Given the description of an element on the screen output the (x, y) to click on. 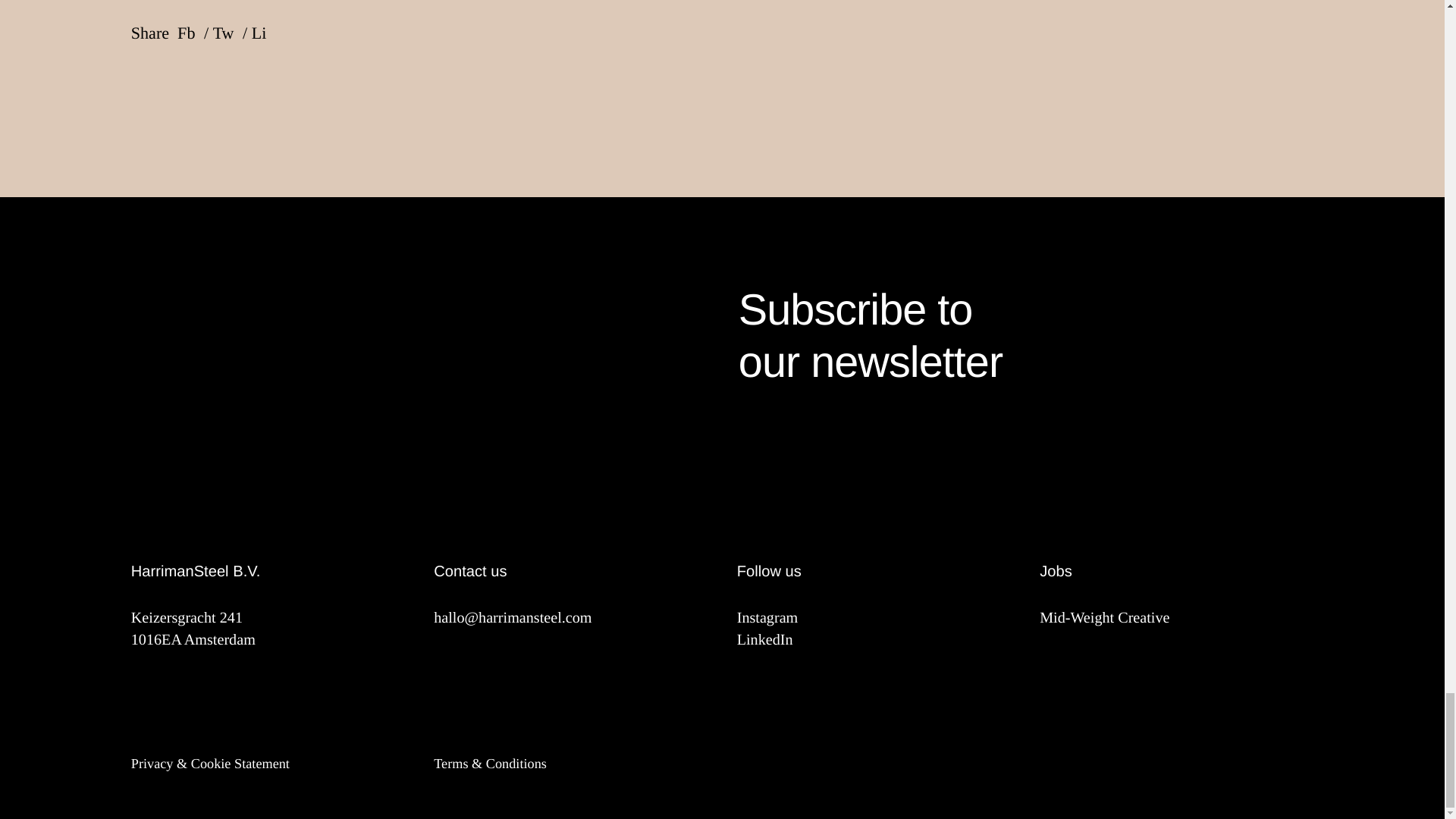
Instagram (873, 618)
Tw (229, 37)
LinkedIn (873, 640)
Mid-Weight Creative (1025, 336)
Fb (1176, 618)
